Given the description of an element on the screen output the (x, y) to click on. 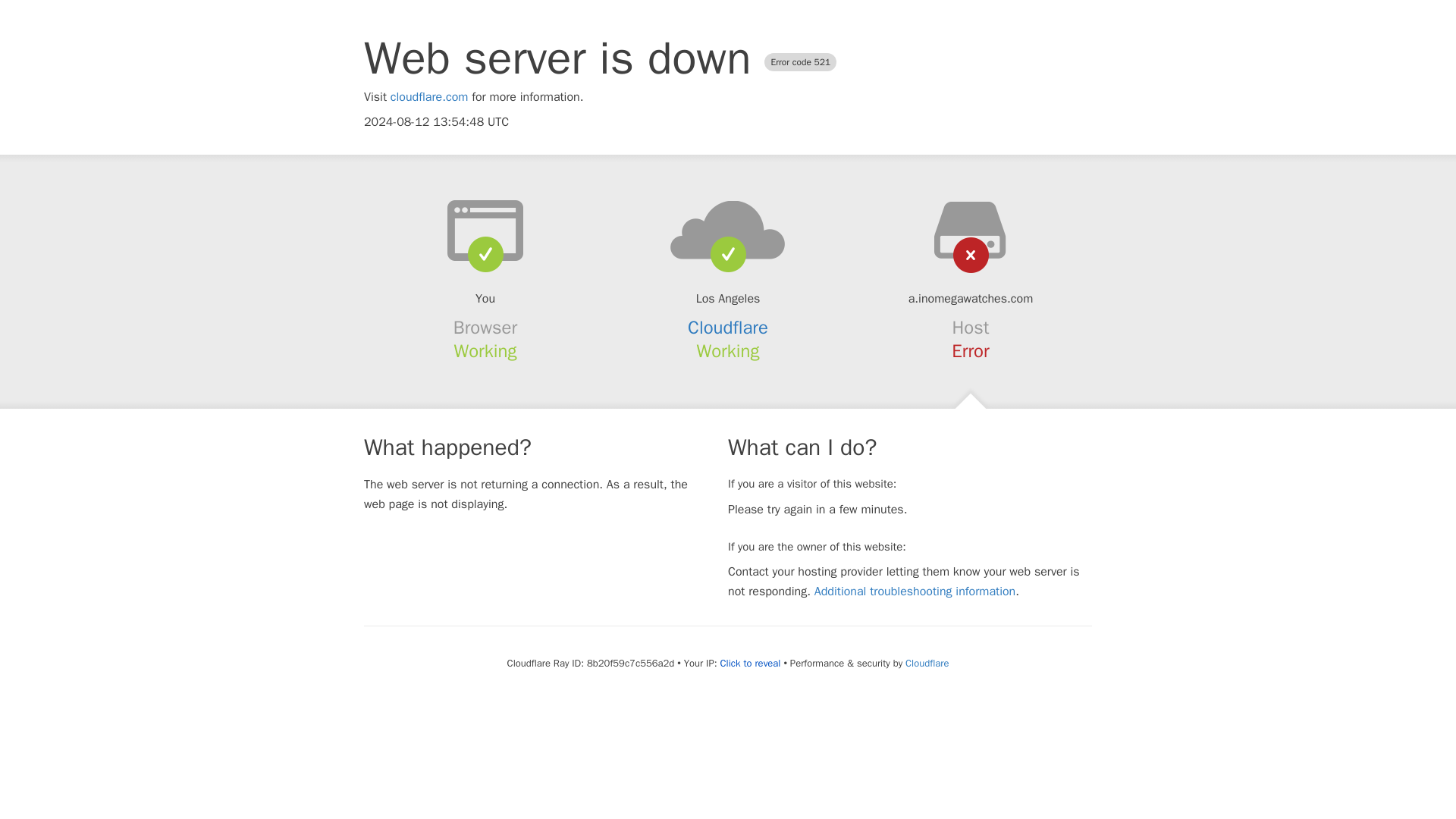
Cloudflare (727, 327)
Click to reveal (750, 663)
Cloudflare (927, 662)
Additional troubleshooting information (913, 590)
cloudflare.com (429, 96)
